Given the description of an element on the screen output the (x, y) to click on. 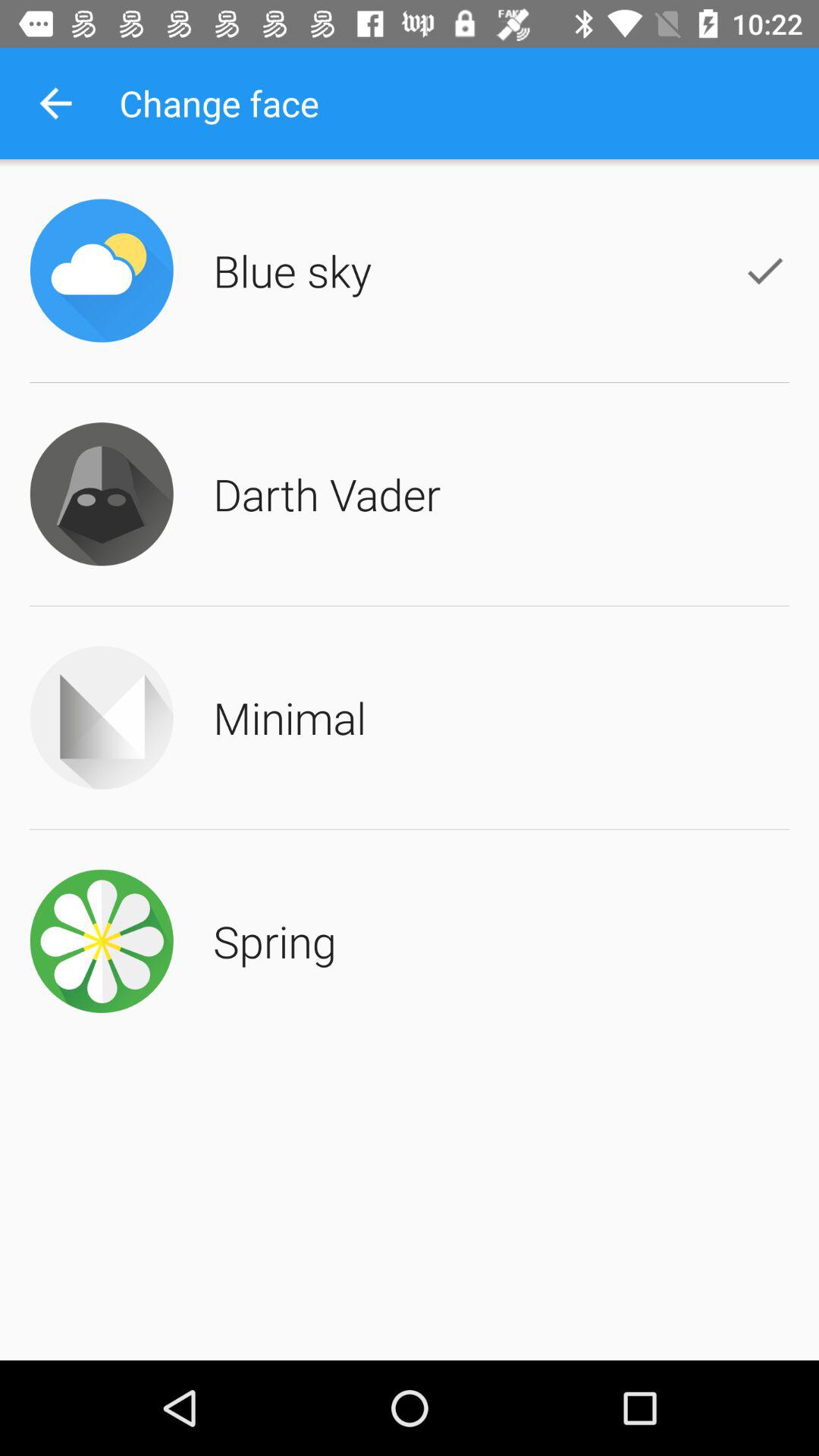
to go back page (55, 103)
